Given the description of an element on the screen output the (x, y) to click on. 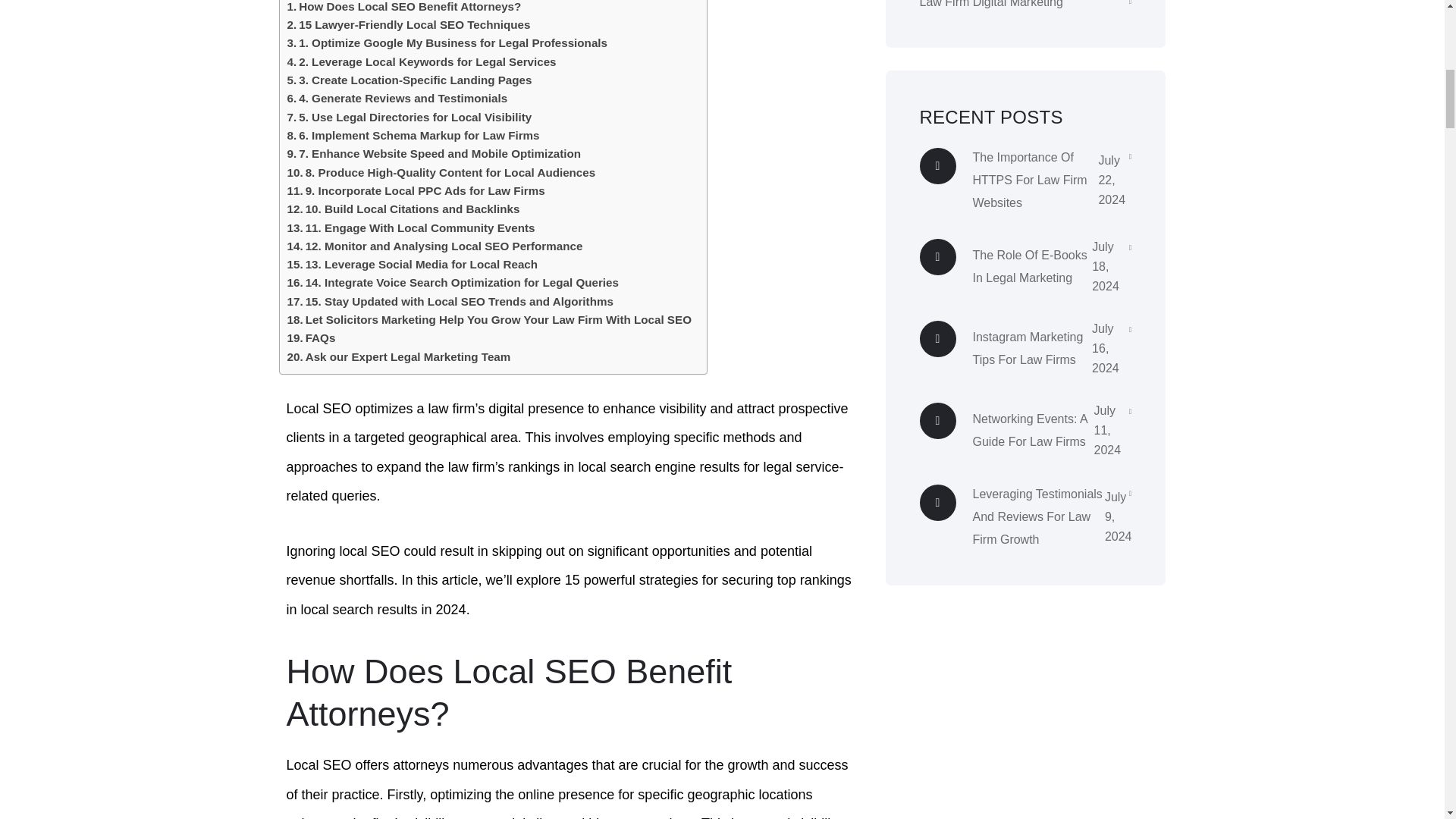
2. Leverage Local Keywords for Legal Services (421, 62)
7. Enhance Website Speed and Mobile Optimization (433, 153)
4. Generate Reviews and Testimonials (396, 98)
15 Lawyer-Friendly Local SEO Techniques (407, 24)
1. Optimize Google My Business for Legal Professionals (446, 43)
4. Generate Reviews and Testimonials (396, 98)
How Does Local SEO Benefit Attorneys? (403, 7)
5. Use Legal Directories for Local Visibility (408, 117)
9. Incorporate Local PPC Ads for Law Firms (415, 190)
6. Implement Schema Markup for Law Firms (412, 135)
3. Create Location-Specific Landing Pages (408, 80)
10. Build Local Citations and Backlinks (402, 208)
1. Optimize Google My Business for Legal Professionals (446, 43)
How Does Local SEO Benefit Attorneys? (403, 7)
8. Produce High-Quality Content for Local Audiences (440, 172)
